Given the description of an element on the screen output the (x, y) to click on. 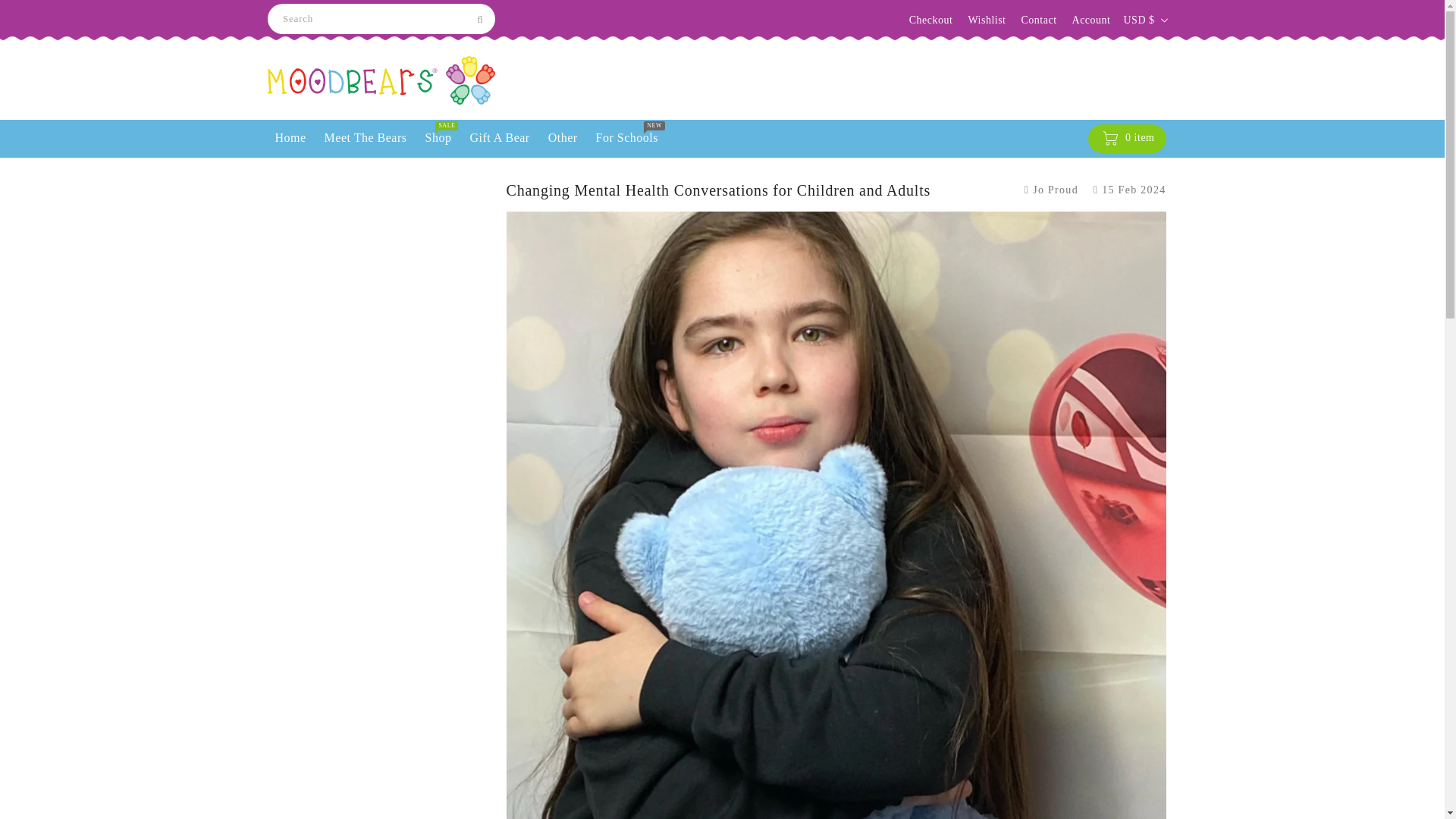
SKIP TO CONTENT (14, 7)
Contact (1038, 20)
Checkout (930, 20)
Wishlist (987, 20)
